Given the description of an element on the screen output the (x, y) to click on. 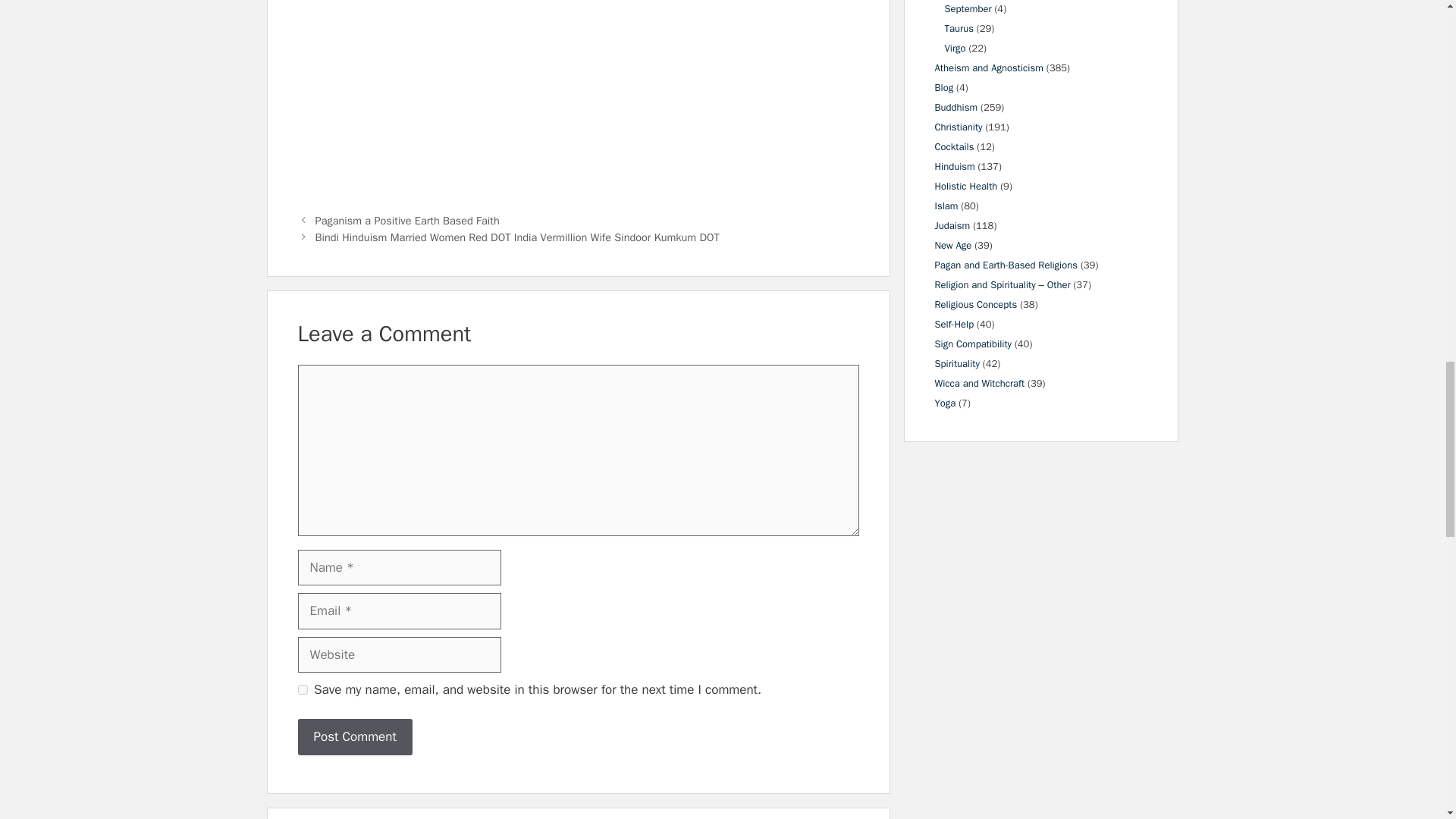
yes (302, 689)
Post Comment (354, 737)
